Given the description of an element on the screen output the (x, y) to click on. 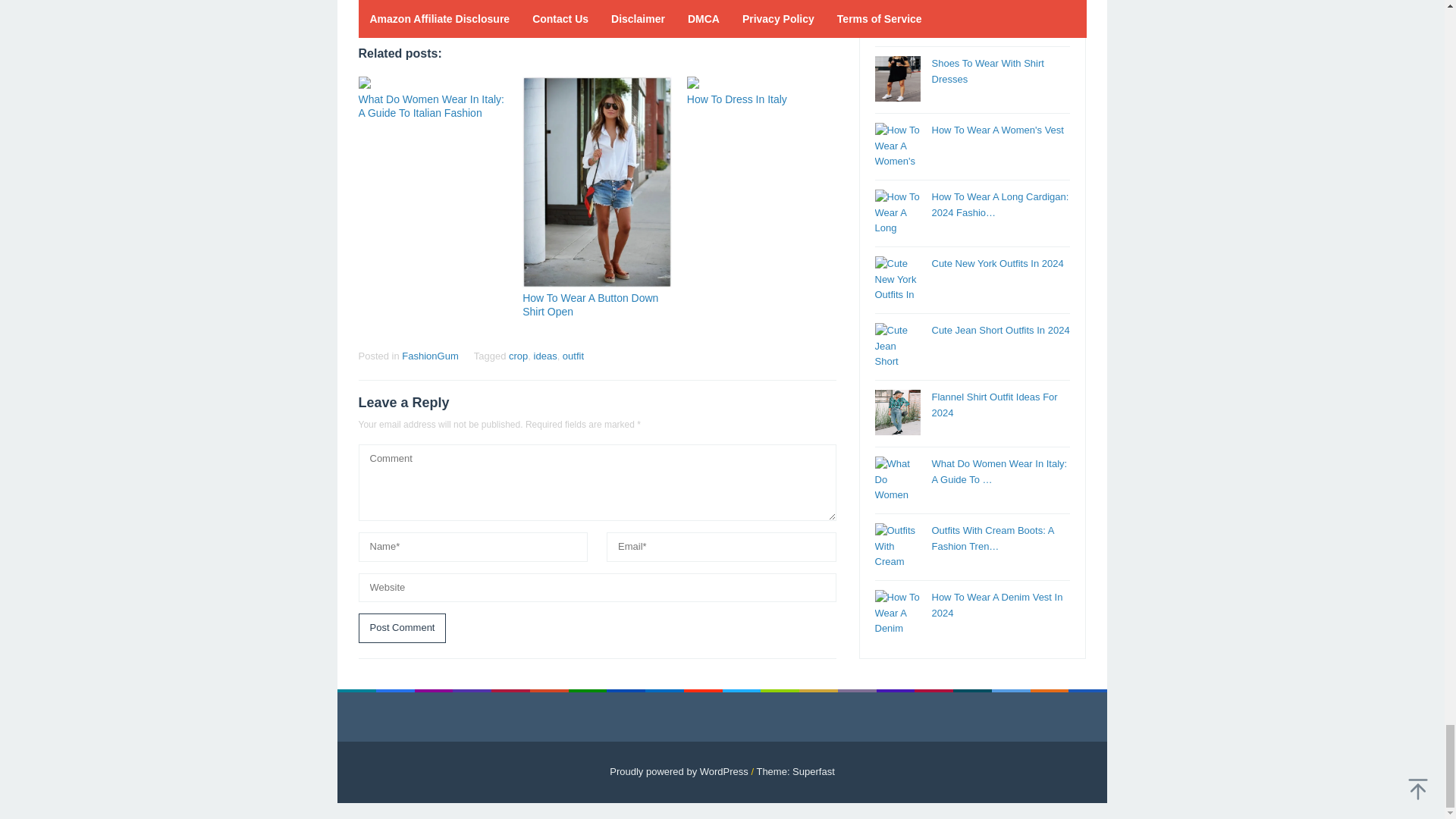
Telegram Share (449, 9)
Post Comment (401, 627)
Post Comment (401, 627)
Share this (369, 9)
FashionGum (429, 355)
Tweet this (396, 9)
ideas (545, 355)
How To Wear A Button Down Shirt Open (590, 304)
